Given the description of an element on the screen output the (x, y) to click on. 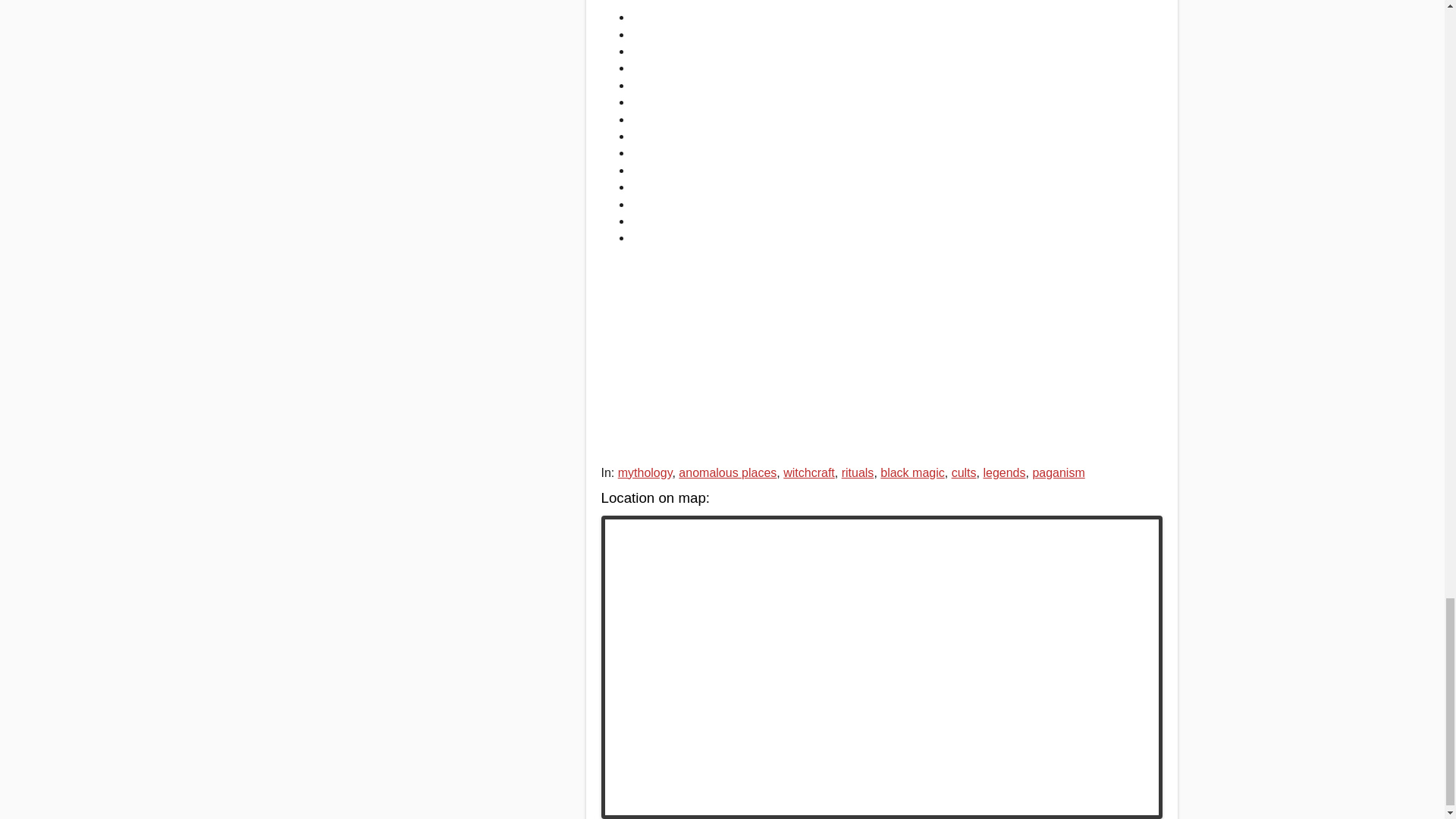
mythology (644, 472)
cults (964, 472)
rituals (858, 472)
black magic (911, 472)
anomalous places (727, 472)
witchcraft (808, 472)
paganism (1058, 472)
legends (1003, 472)
